Given the description of an element on the screen output the (x, y) to click on. 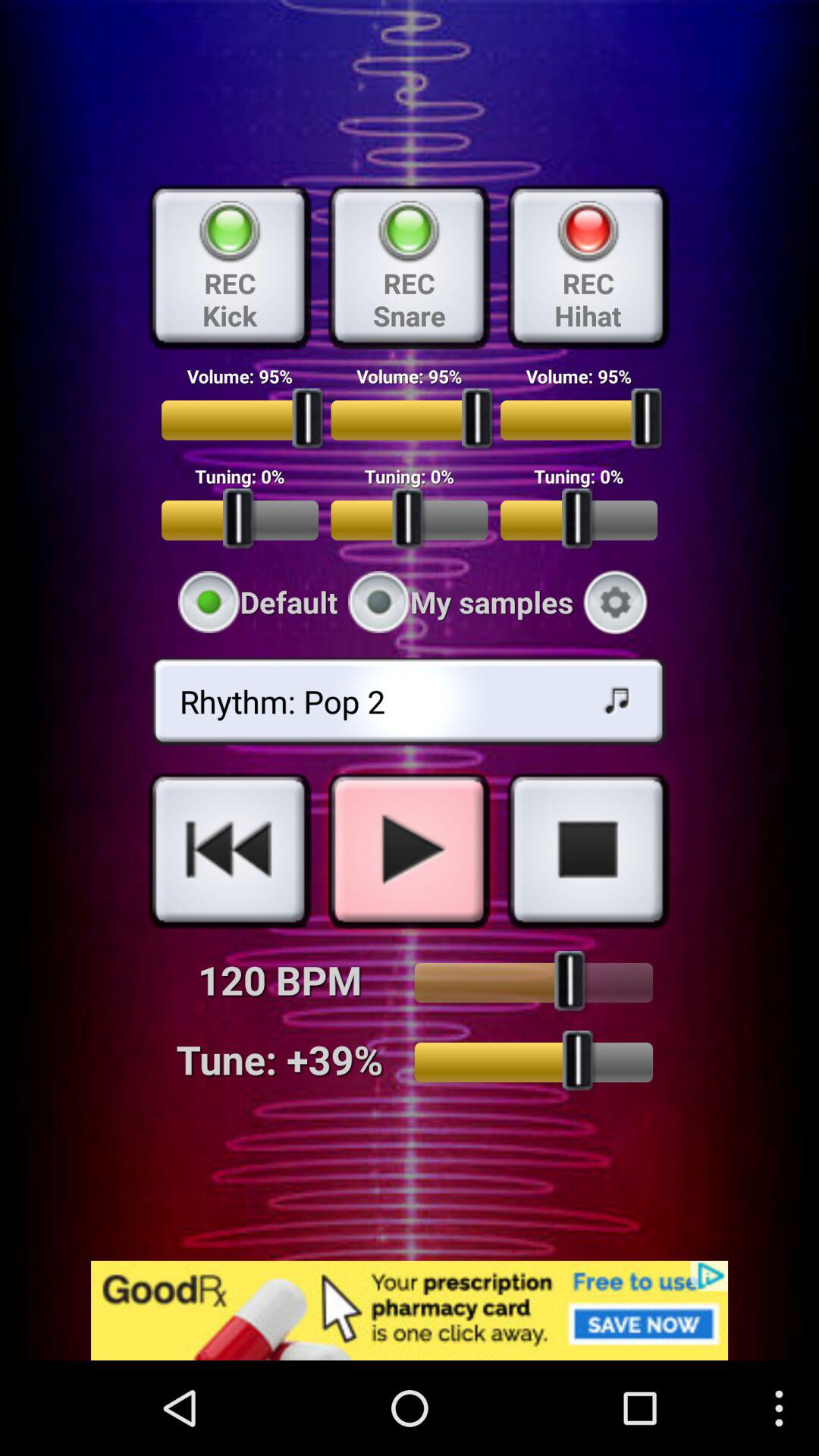
adjust tune (533, 1062)
